Given the description of an element on the screen output the (x, y) to click on. 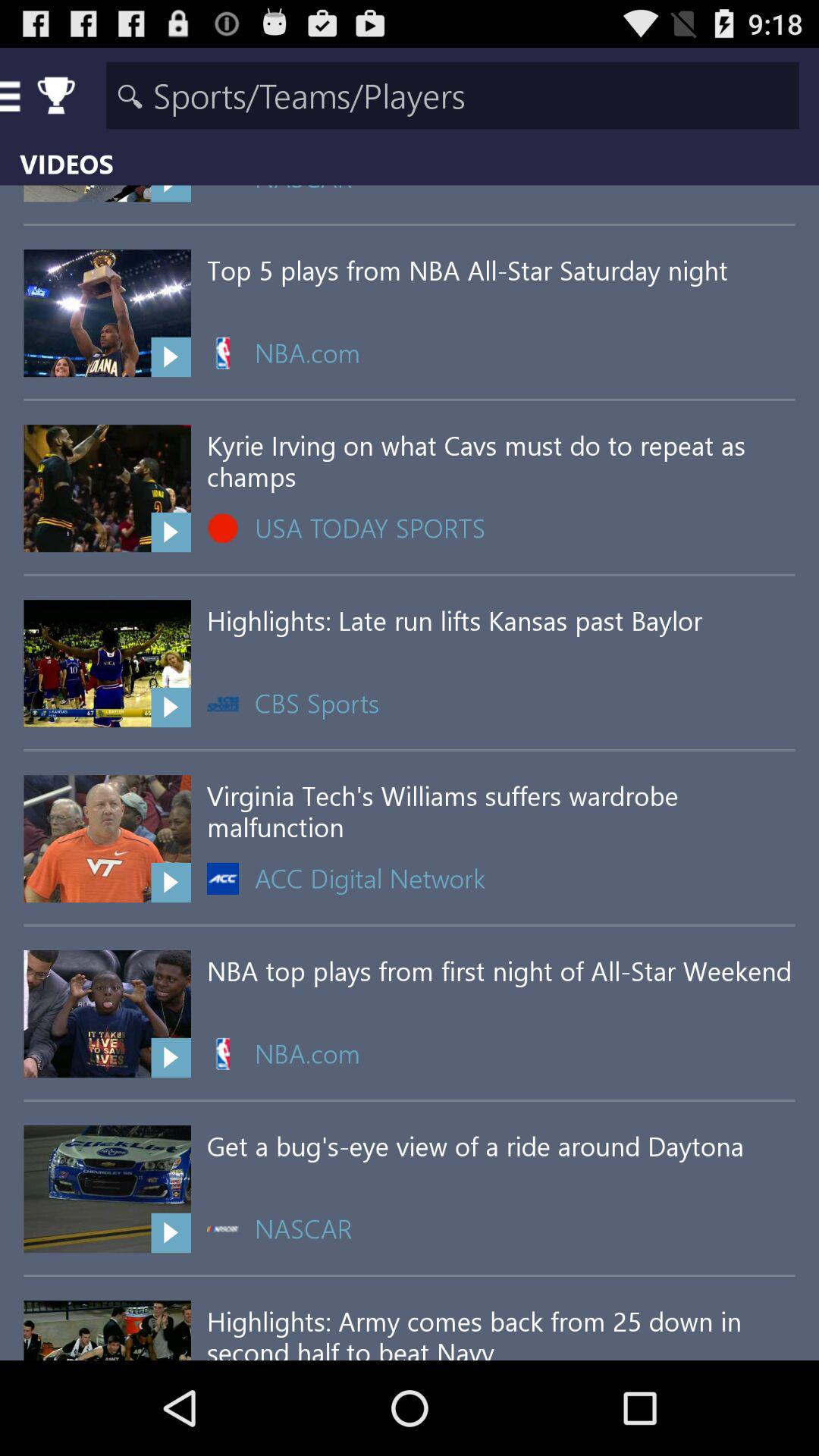
search area (452, 95)
